Given the description of an element on the screen output the (x, y) to click on. 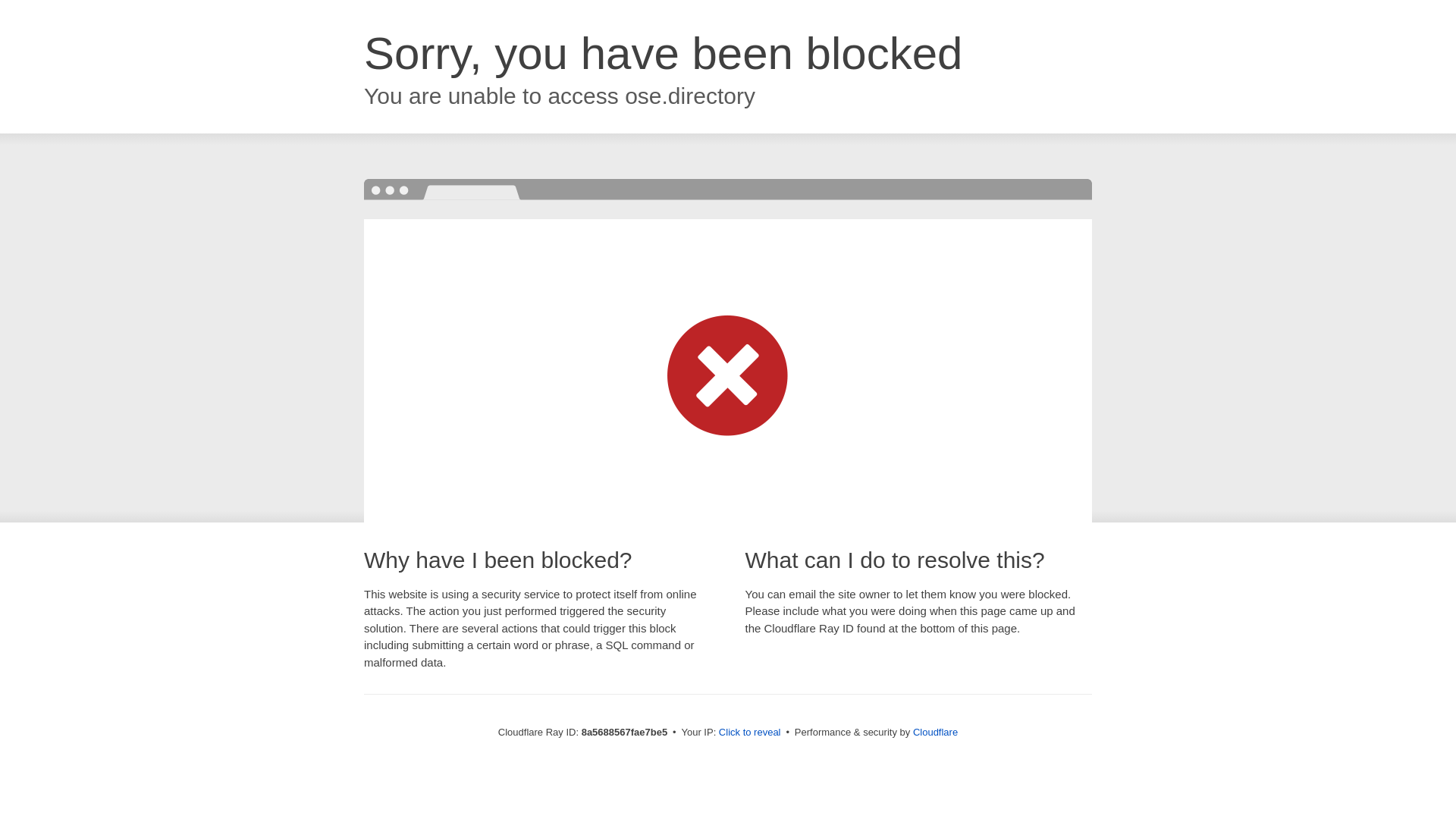
Click to reveal (749, 732)
Cloudflare (935, 731)
